Given the description of an element on the screen output the (x, y) to click on. 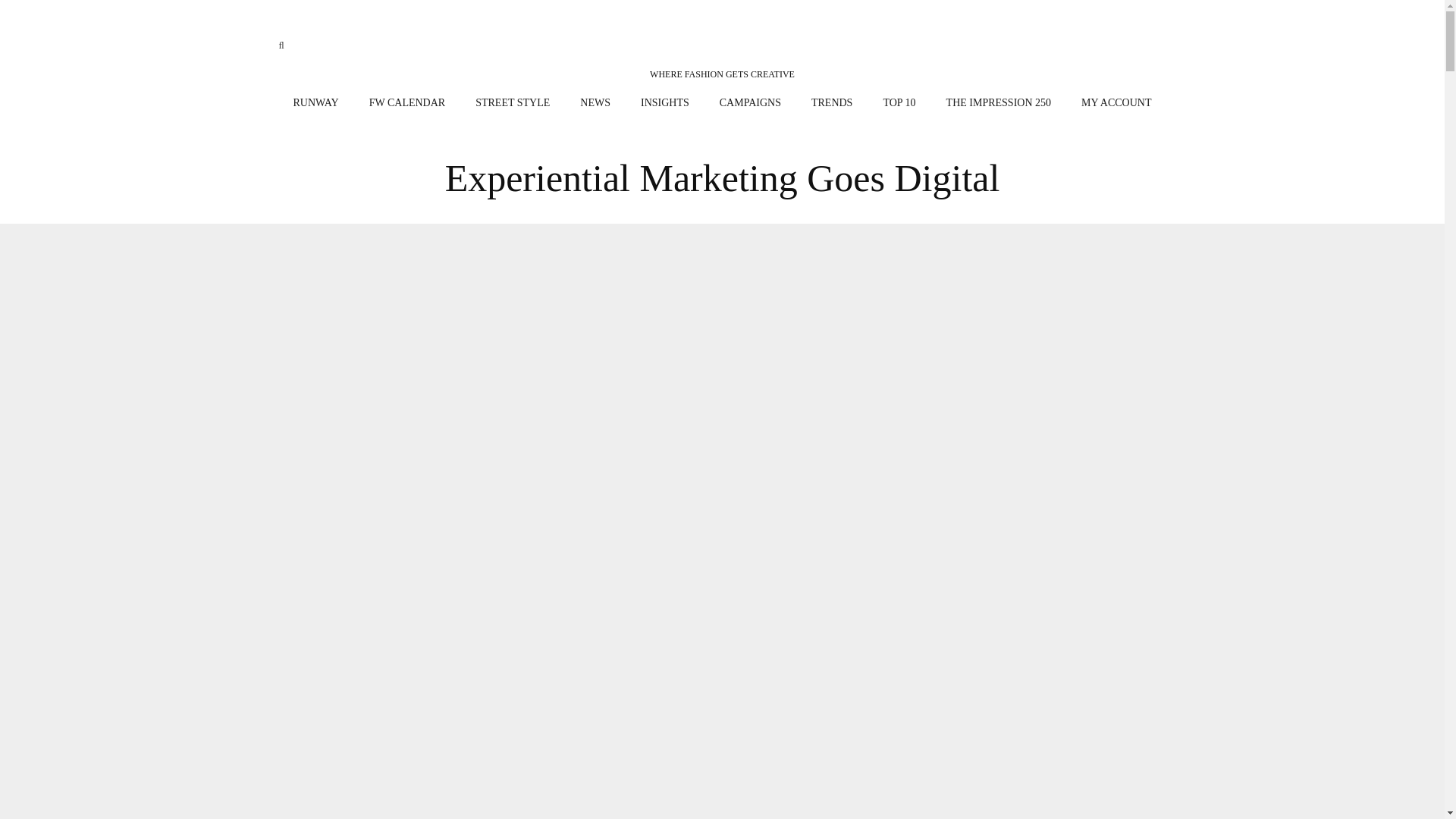
STREET STYLE (512, 103)
FW CALENDAR (406, 103)
CAMPAIGNS (750, 103)
INSIGHTS (665, 103)
RUNWAY (315, 103)
NEWS (595, 103)
WHERE FASHION GETS CREATIVE (721, 51)
